Given the description of an element on the screen output the (x, y) to click on. 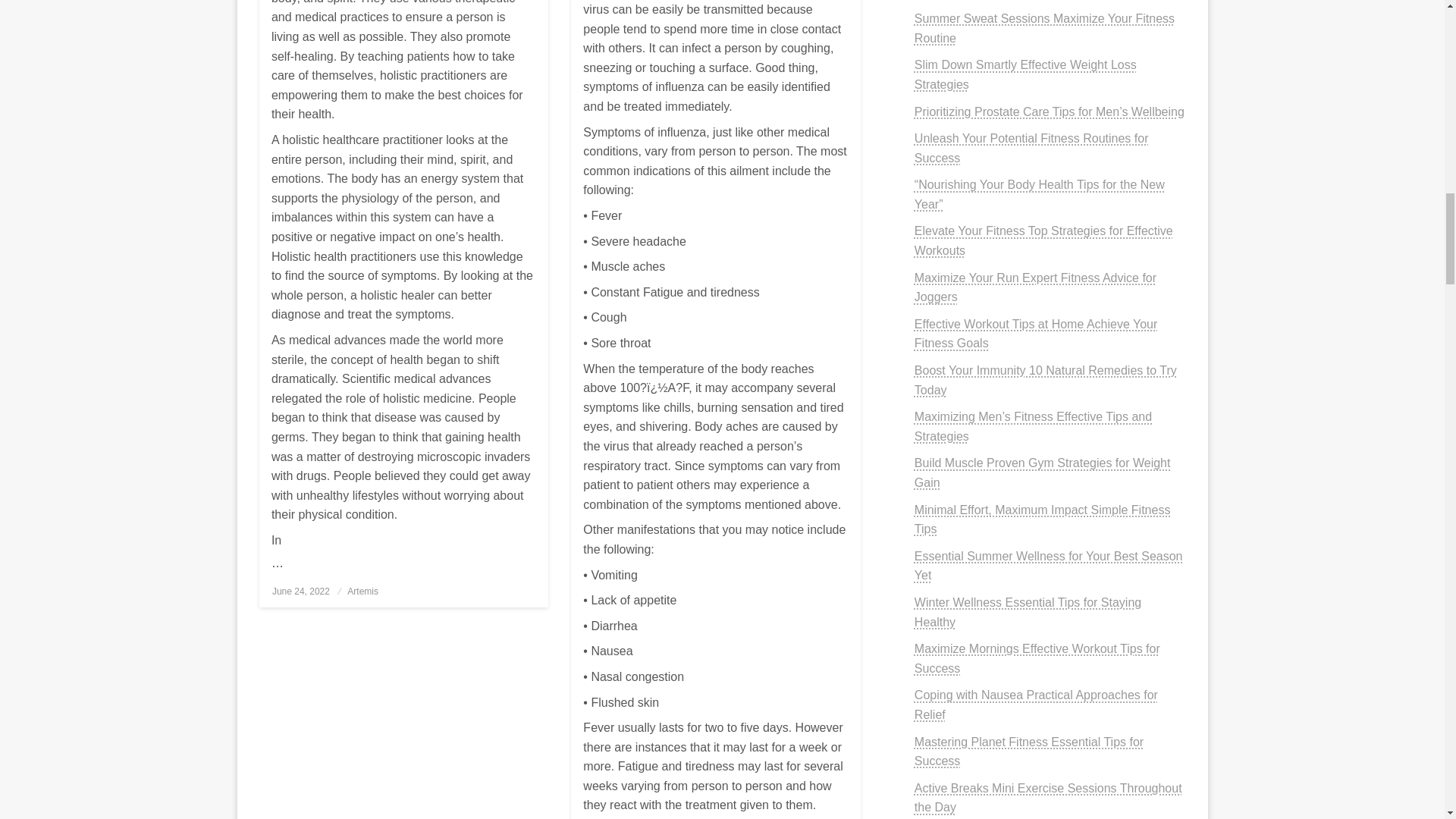
Artemis (362, 591)
